Given the description of an element on the screen output the (x, y) to click on. 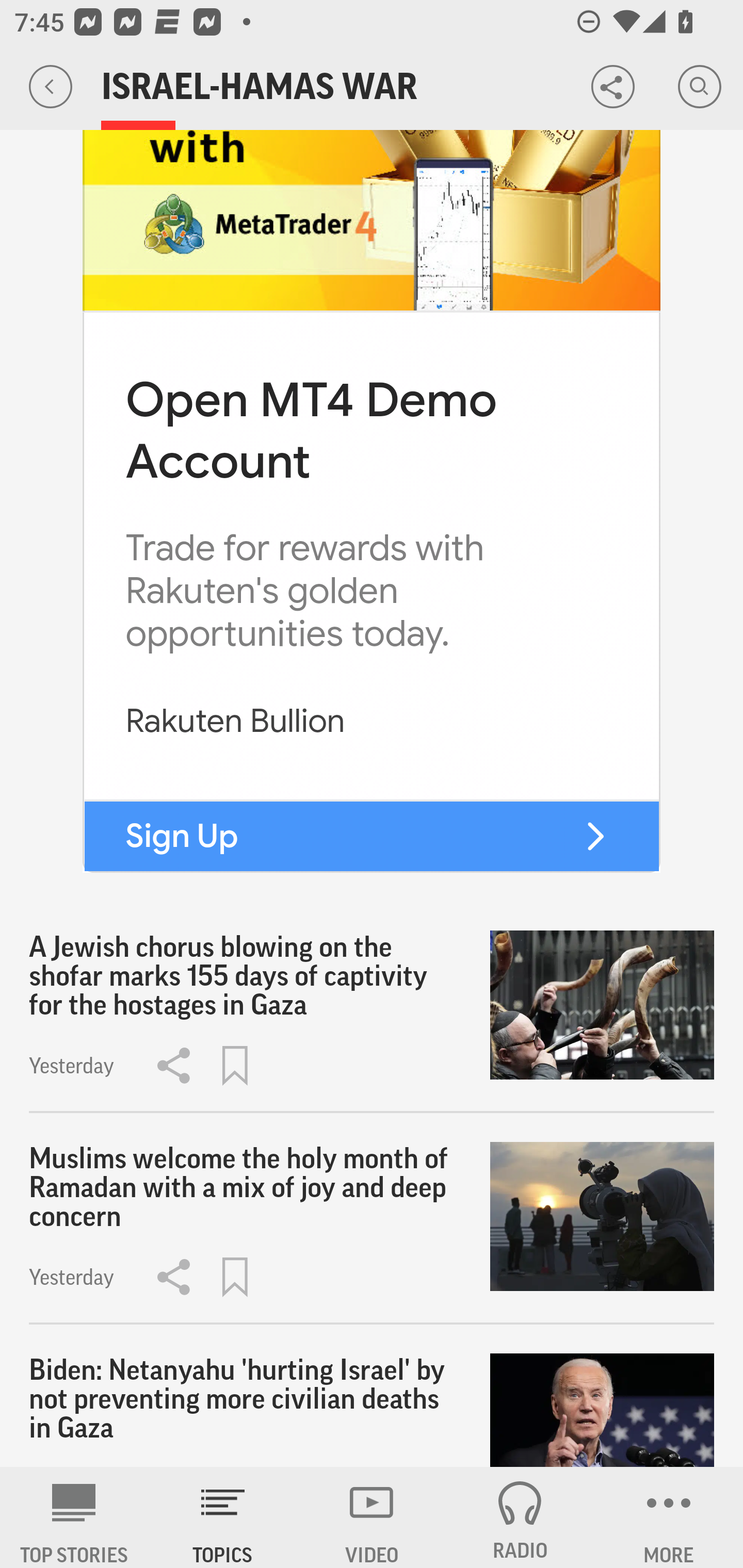
Open MT4 Demo Account Open MT4 Demo Account (310, 429)
Rakuten Bullion (235, 721)
Sign Up (181, 835)
AP News TOP STORIES (74, 1517)
TOPICS (222, 1517)
VIDEO (371, 1517)
RADIO (519, 1517)
MORE (668, 1517)
